Given the description of an element on the screen output the (x, y) to click on. 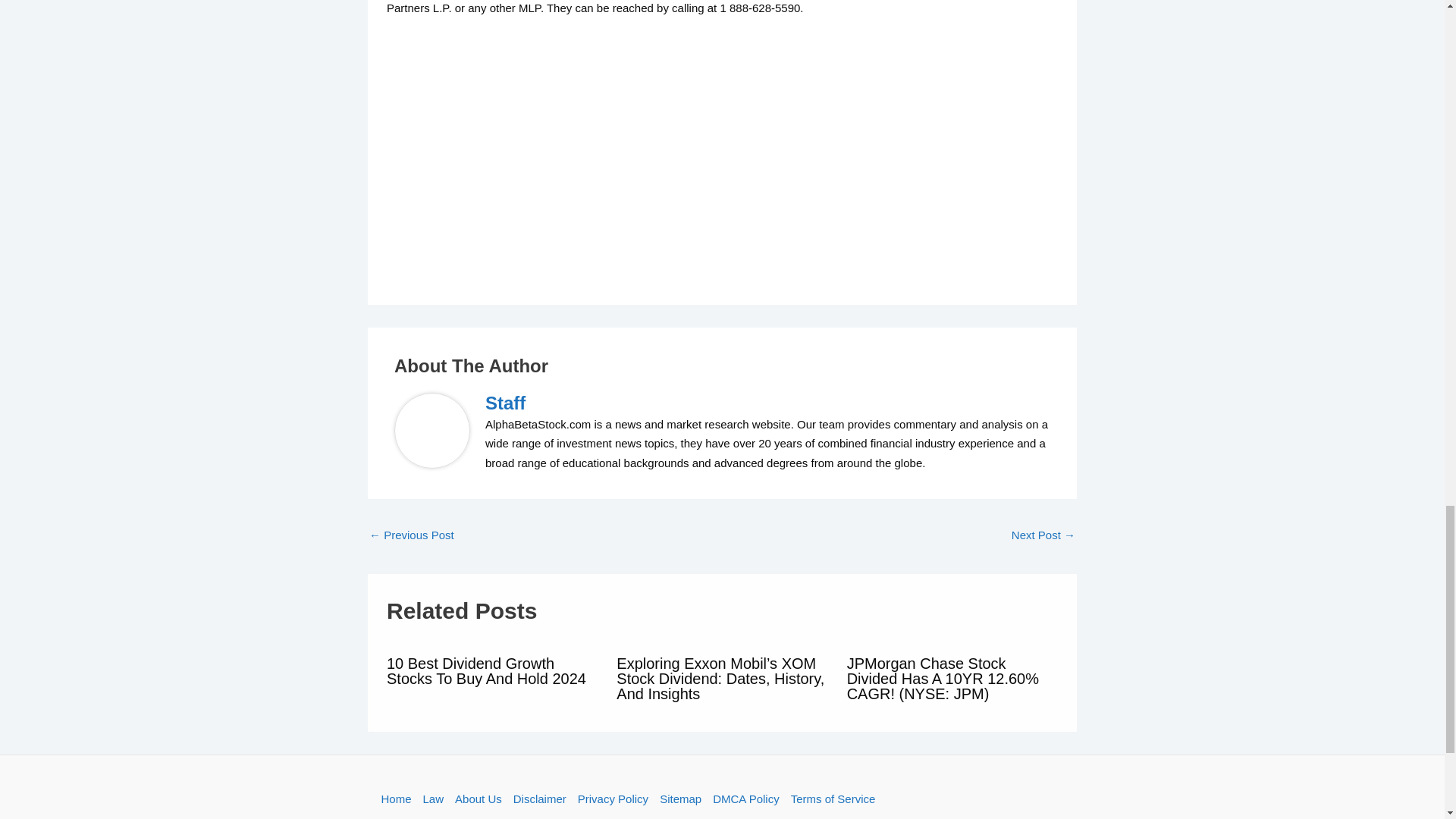
About Us (478, 799)
Home (398, 799)
Dividend Aristocrats Stocks to Watch (1043, 536)
Law (432, 799)
10 Best Dividend Growth Stocks To Buy And Hold 2024 (486, 671)
Staff (766, 403)
